Given the description of an element on the screen output the (x, y) to click on. 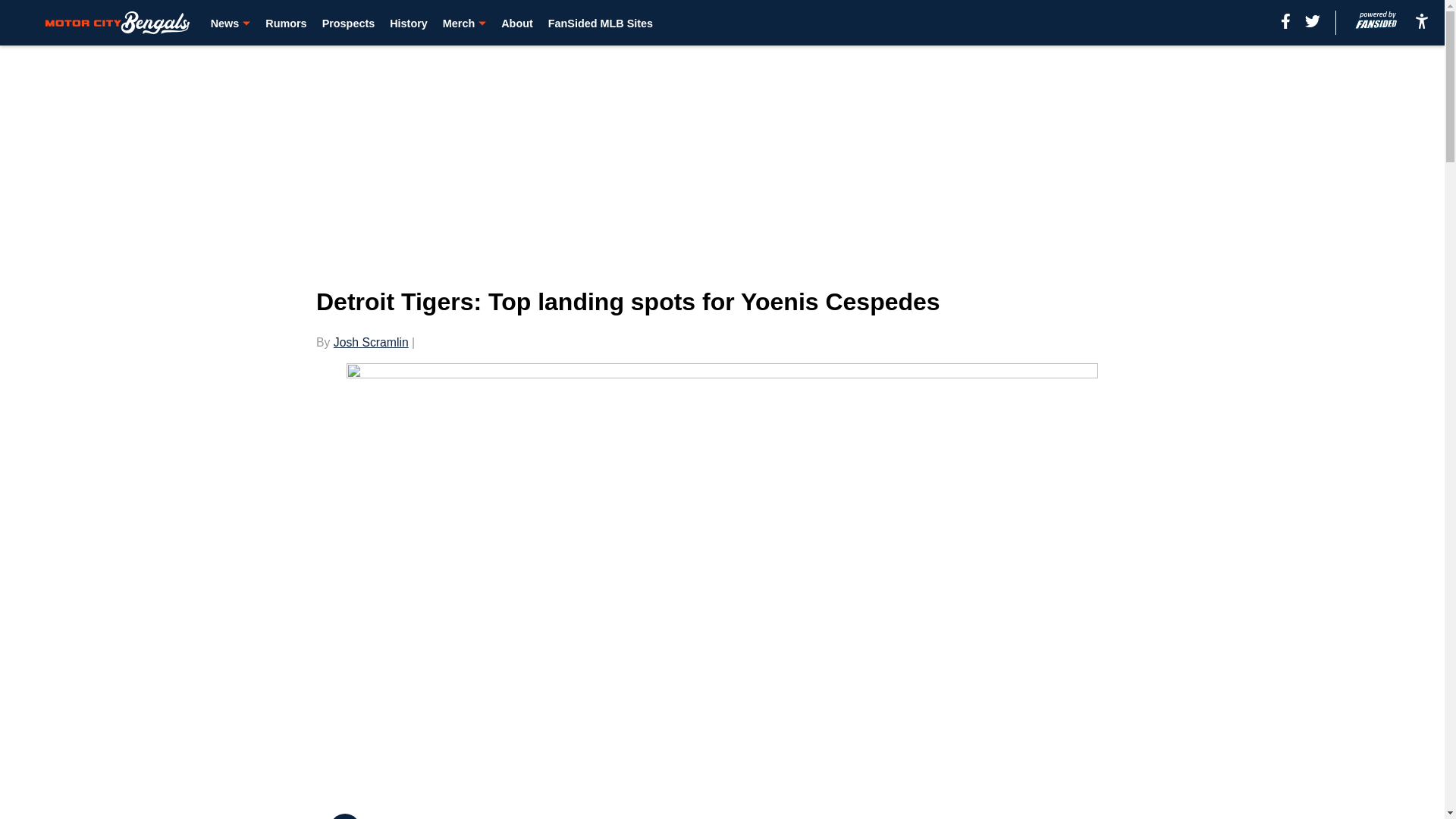
FanSided MLB Sites (600, 23)
History (409, 23)
Josh Scramlin (371, 341)
Rumors (284, 23)
Prospects (348, 23)
About (516, 23)
